Given the description of an element on the screen output the (x, y) to click on. 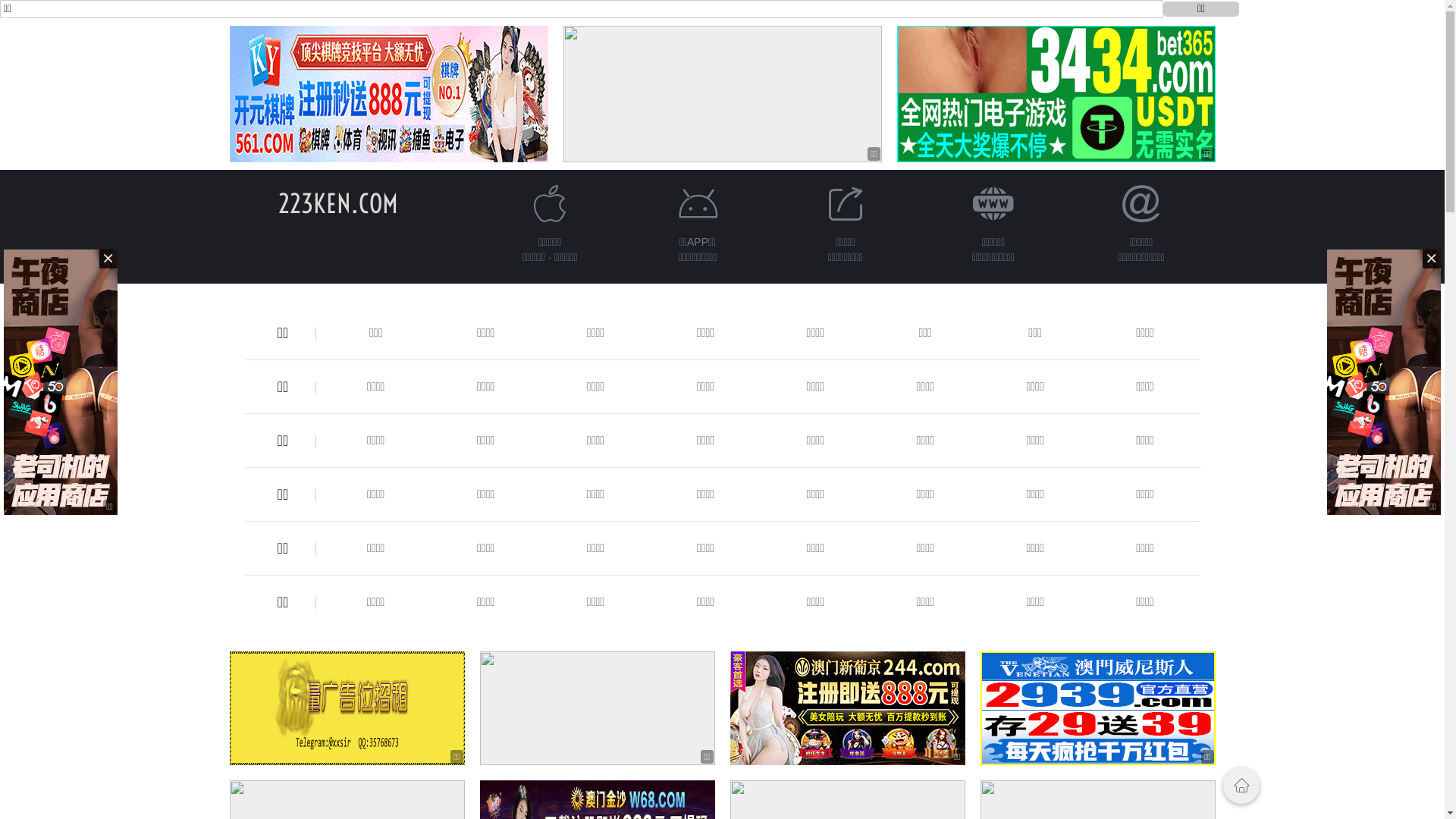
223KEN.COM Element type: text (337, 203)
